Given the description of an element on the screen output the (x, y) to click on. 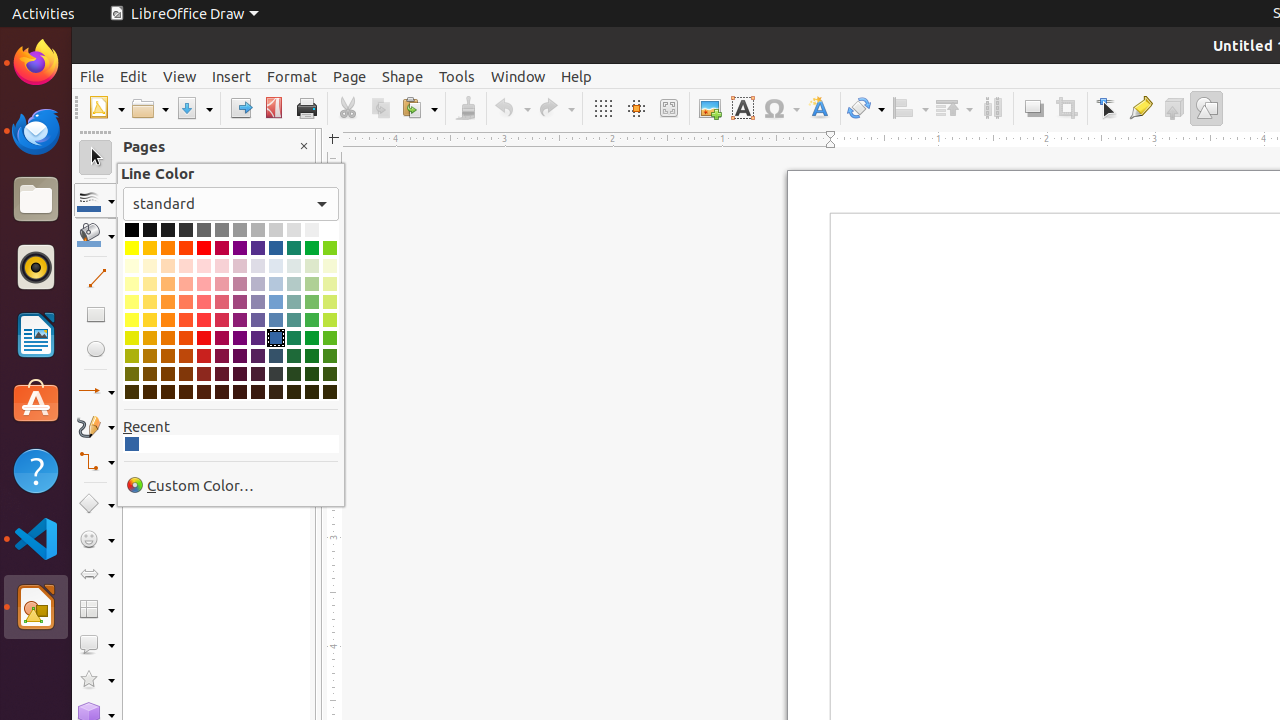
Light Green 2 Element type: list-item (312, 302)
Dark Lime 1 Element type: list-item (330, 338)
Visual Studio Code Element type: push-button (36, 538)
Insert Element type: menu (231, 76)
Shape Element type: menu (402, 76)
